Given the description of an element on the screen output the (x, y) to click on. 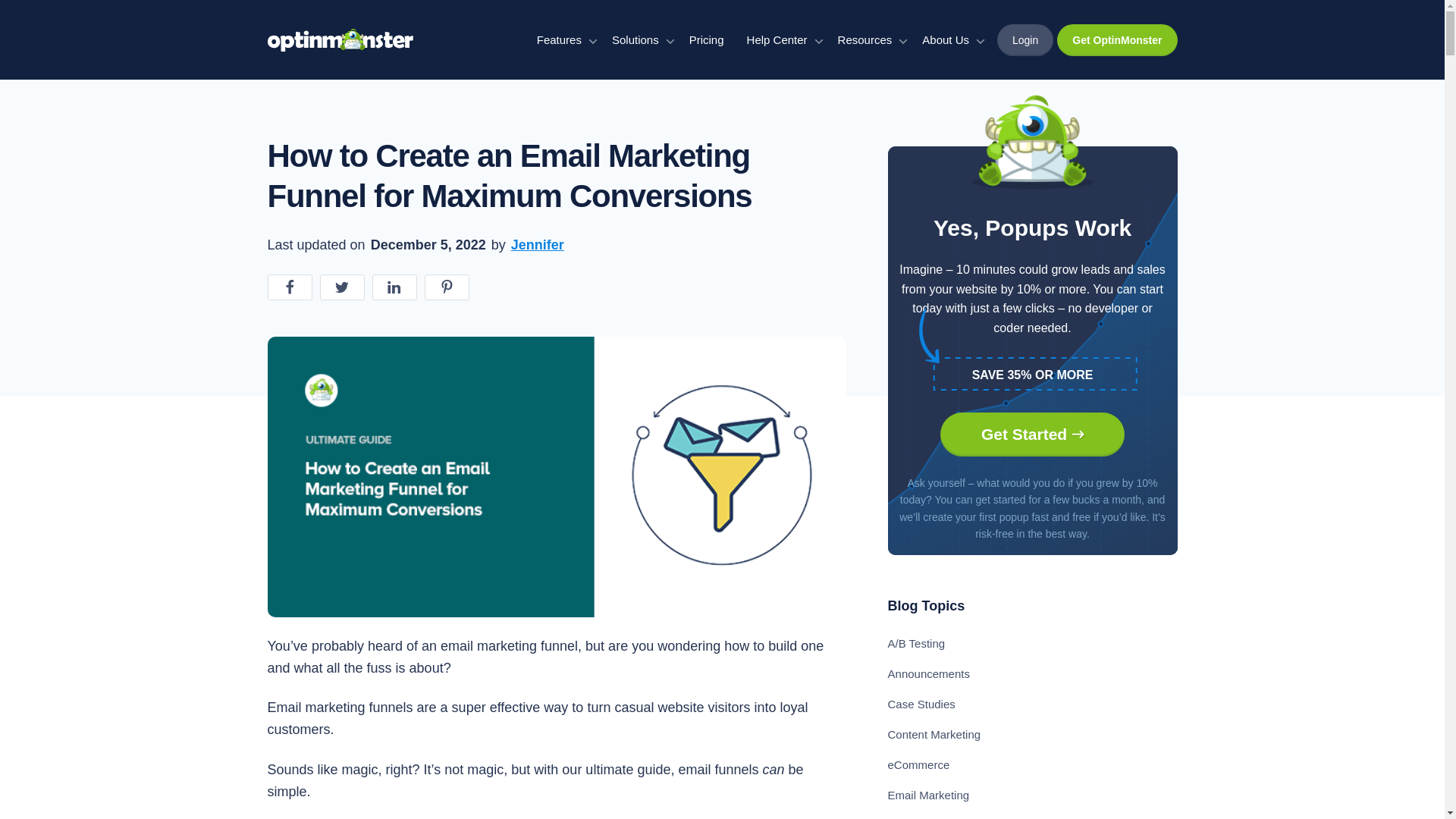
Share on Facebook (288, 287)
Share on LinkedIn (393, 287)
Features (555, 39)
Share on Twitter (342, 287)
Share on Pinterest (446, 287)
